Given the description of an element on the screen output the (x, y) to click on. 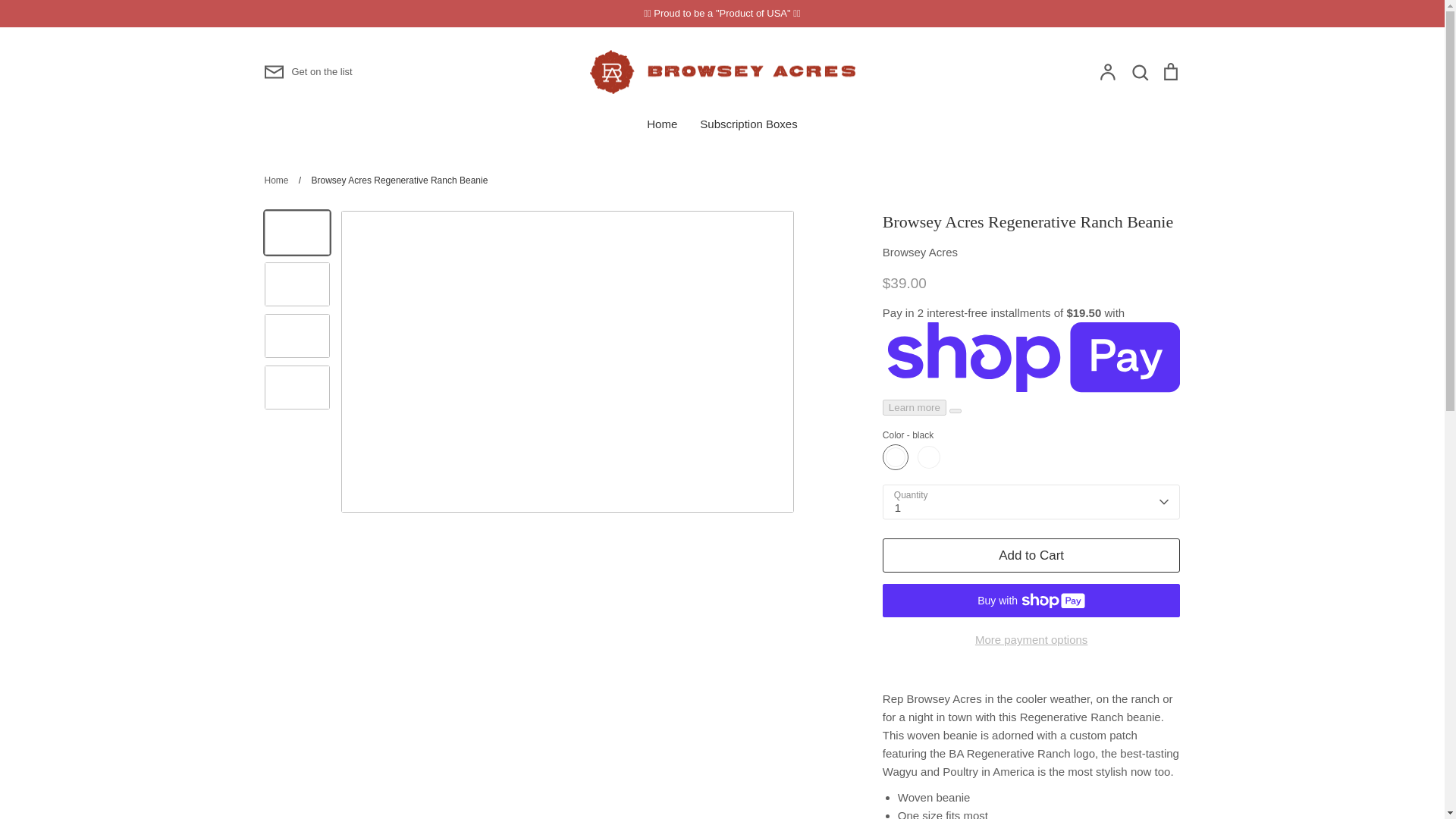
Get on the list (307, 71)
1 (1031, 501)
Cart (1169, 70)
Subscription Boxes (748, 123)
Account (1107, 70)
Add to Cart (1031, 555)
Browsey Acres (920, 251)
Home (661, 123)
Home (275, 180)
Search (1139, 70)
More payment options (1031, 640)
